Given the description of an element on the screen output the (x, y) to click on. 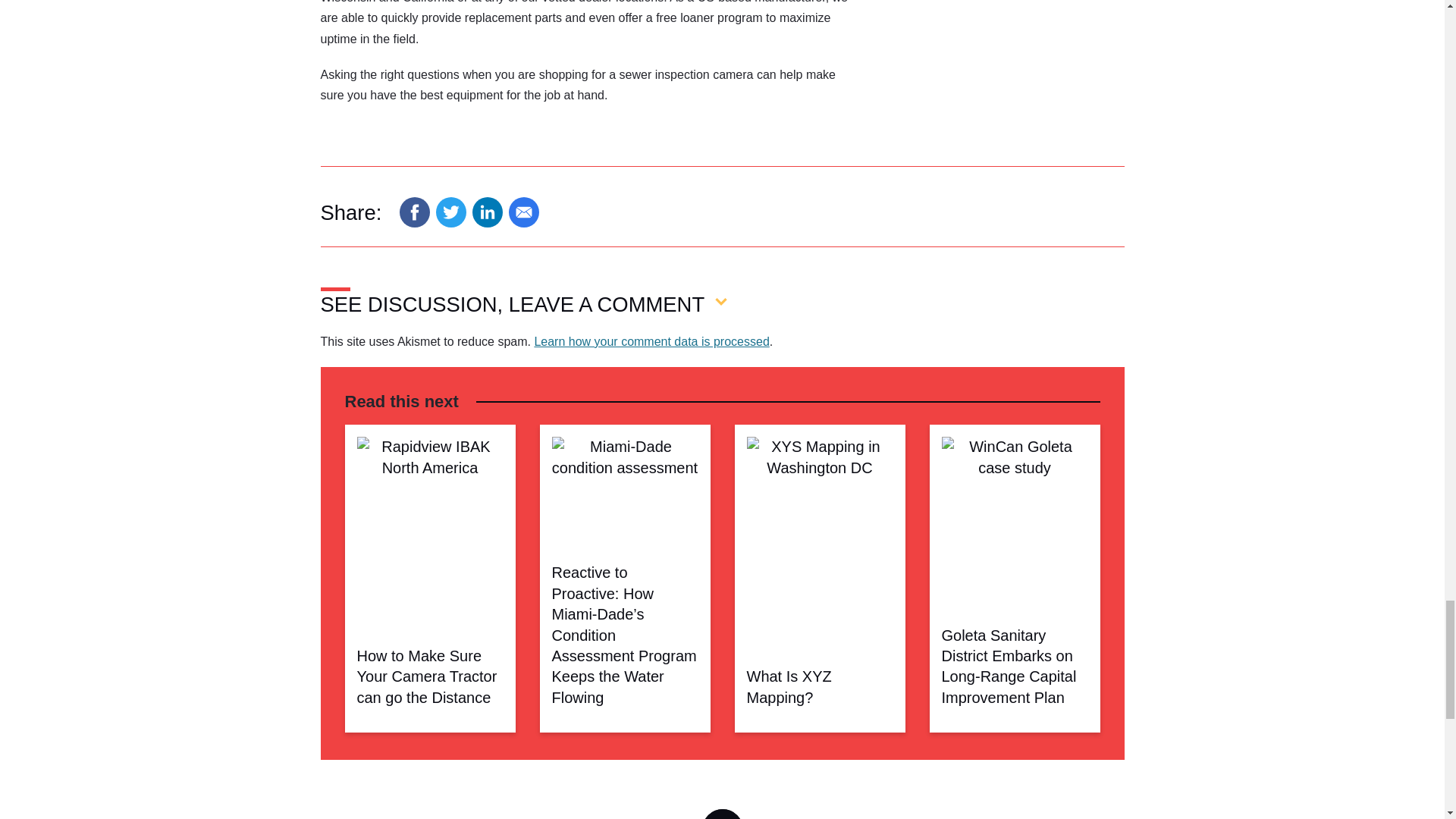
LinkedIn (486, 212)
Twitter (450, 212)
How to Make Sure Your Camera Tractor can go the Distance (429, 493)
Email (523, 212)
What Is XYZ Mapping? (818, 493)
Facebook (414, 212)
